Given the description of an element on the screen output the (x, y) to click on. 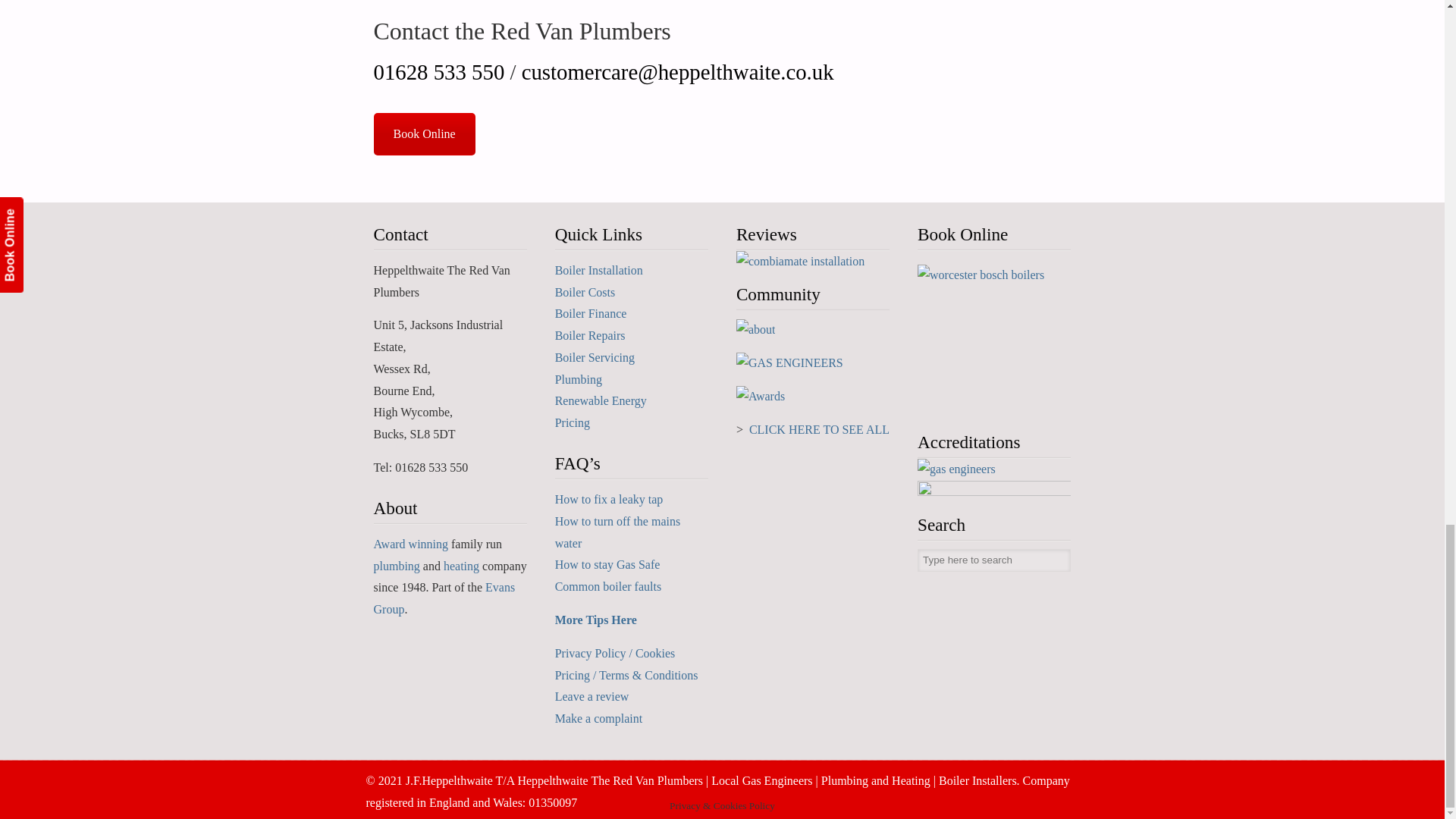
Award winning (410, 543)
Search (1058, 559)
01628 533 550 (437, 71)
Book Online (423, 134)
